Given the description of an element on the screen output the (x, y) to click on. 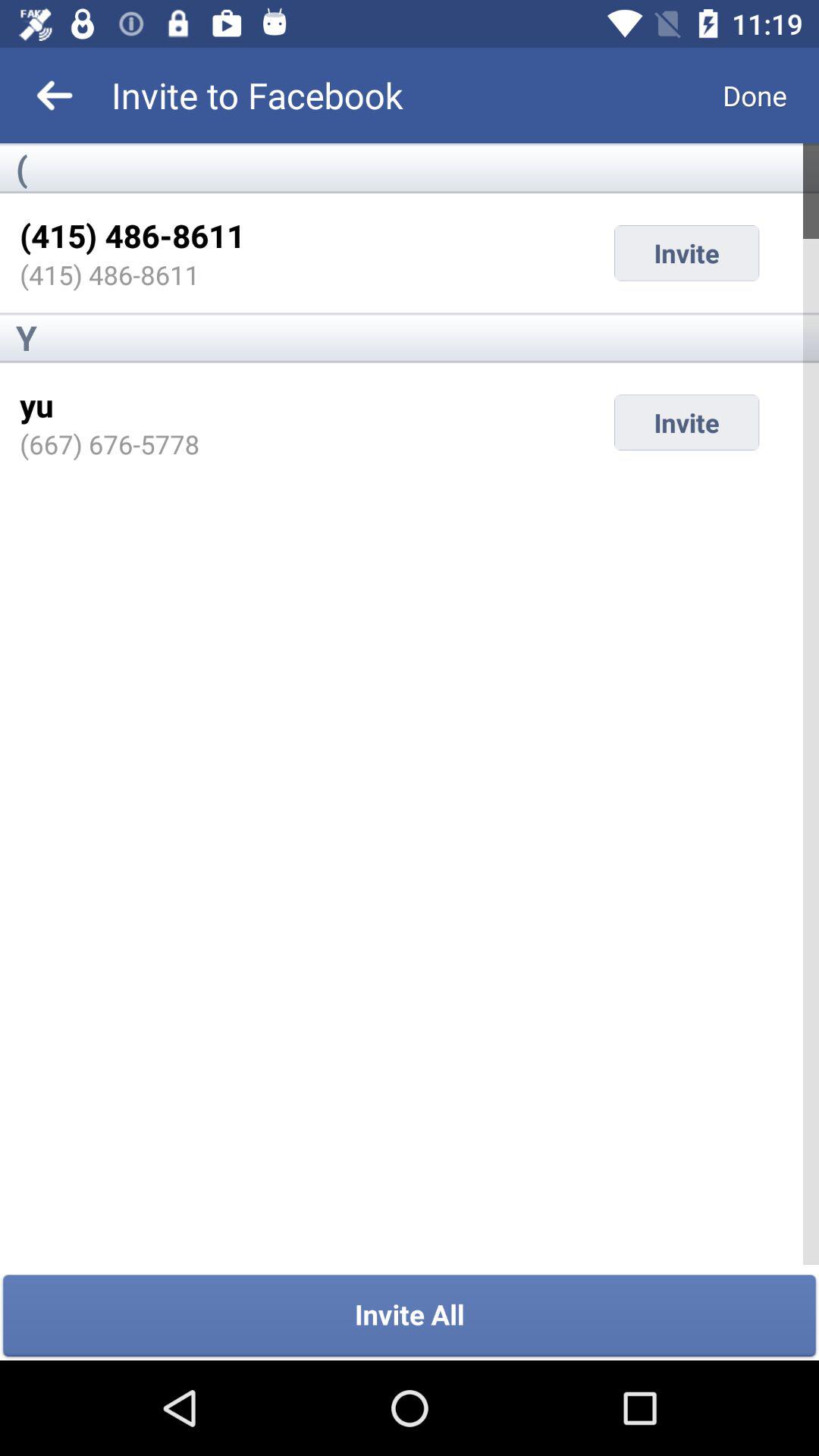
swipe to invite all icon (409, 1316)
